Given the description of an element on the screen output the (x, y) to click on. 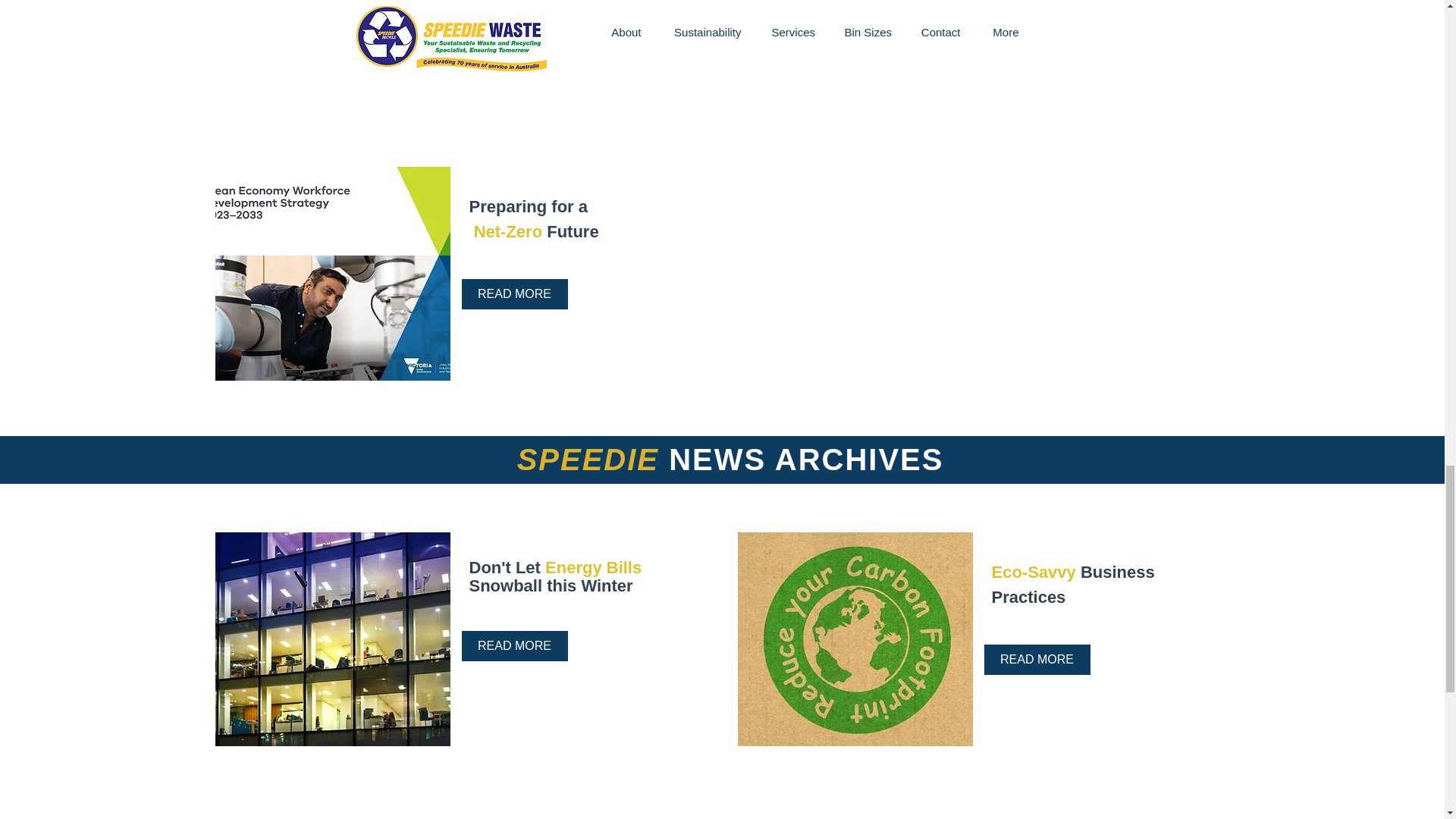
READ MORE (1037, 659)
READ MORE (1037, 44)
READ MORE (514, 294)
READ MORE (514, 19)
READ MORE (514, 645)
